Given the description of an element on the screen output the (x, y) to click on. 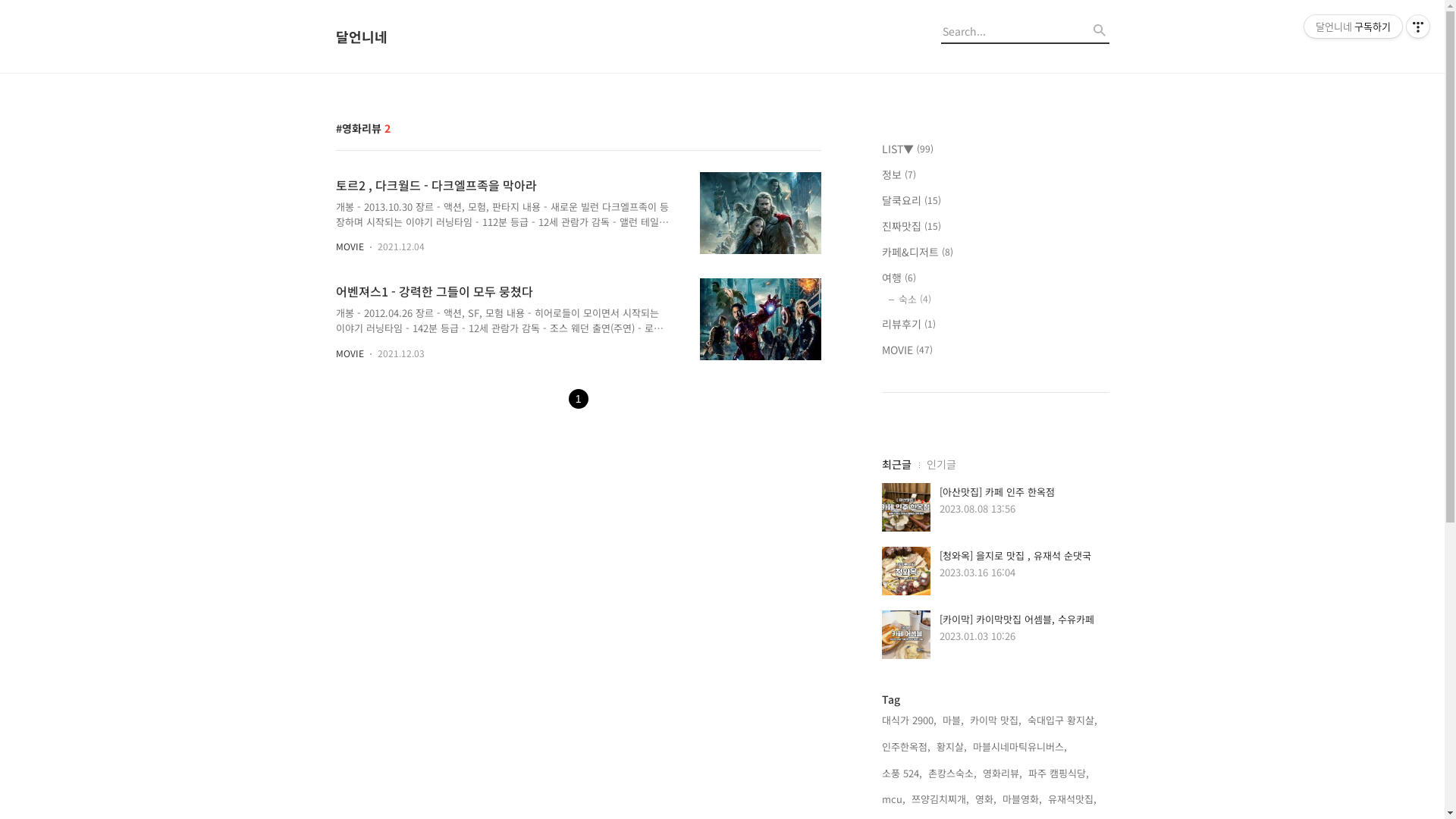
mcu, Element type: text (892, 798)
MOVIE Element type: text (349, 245)
MOVIE Element type: text (349, 352)
1 Element type: text (578, 397)
MOVIE (47) Element type: text (994, 349)
